Given the description of an element on the screen output the (x, y) to click on. 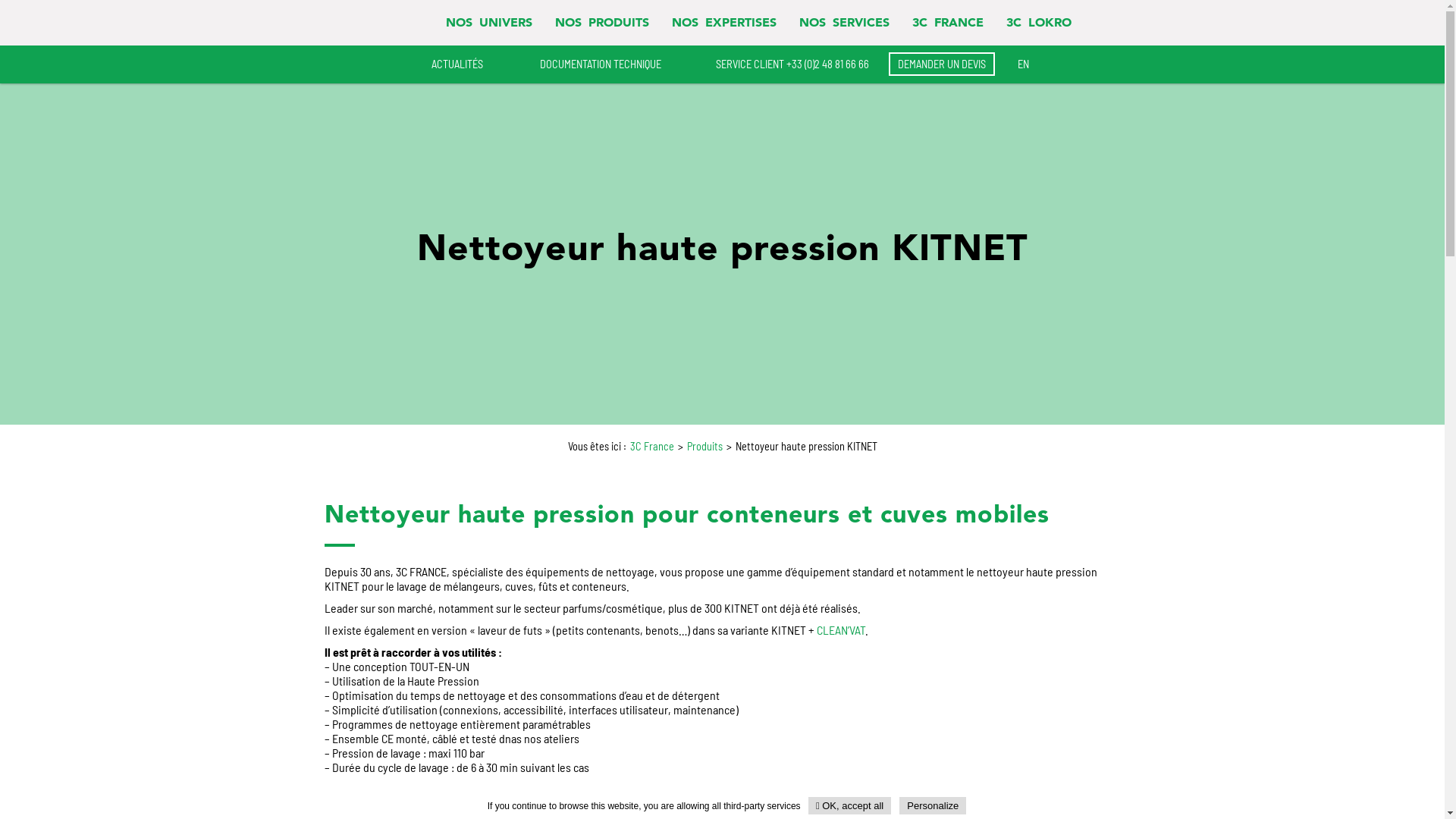
NOS SERVICES Element type: text (844, 22)
Personalize Element type: text (932, 805)
NOS EXPERTISES Element type: text (723, 22)
DEMANDER UN DEVIS Element type: text (941, 64)
Produits Element type: text (704, 445)
EN Element type: text (1023, 64)
Rechercher sur le site Element type: hover (1101, 22)
DOCUMENTATION TECHNIQUE Element type: text (584, 64)
NOS PRODUITS Element type: text (602, 22)
NOS UNIVERS Element type: text (488, 22)
3C France Element type: text (651, 445)
3C FRANCE Element type: text (946, 22)
3C LOKRO Element type: text (1037, 22)
